Given the description of an element on the screen output the (x, y) to click on. 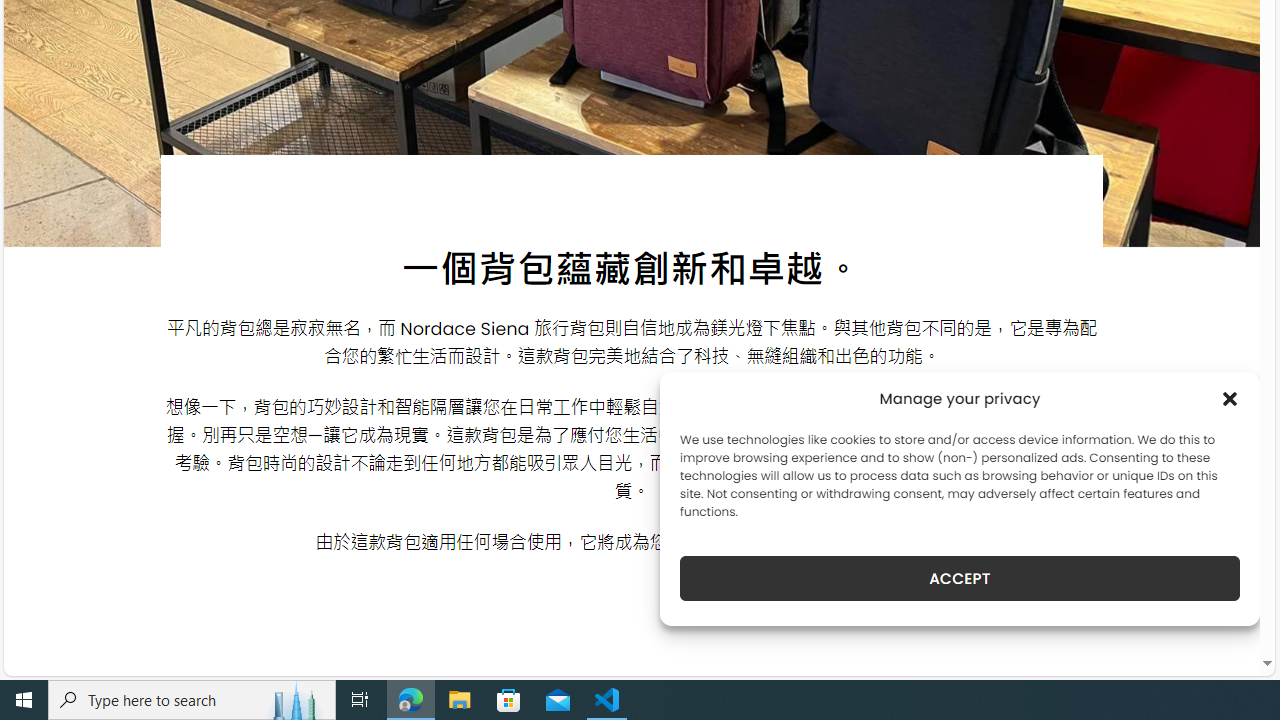
Class: cmplz-close (1229, 398)
ACCEPT (959, 578)
